Given the description of an element on the screen output the (x, y) to click on. 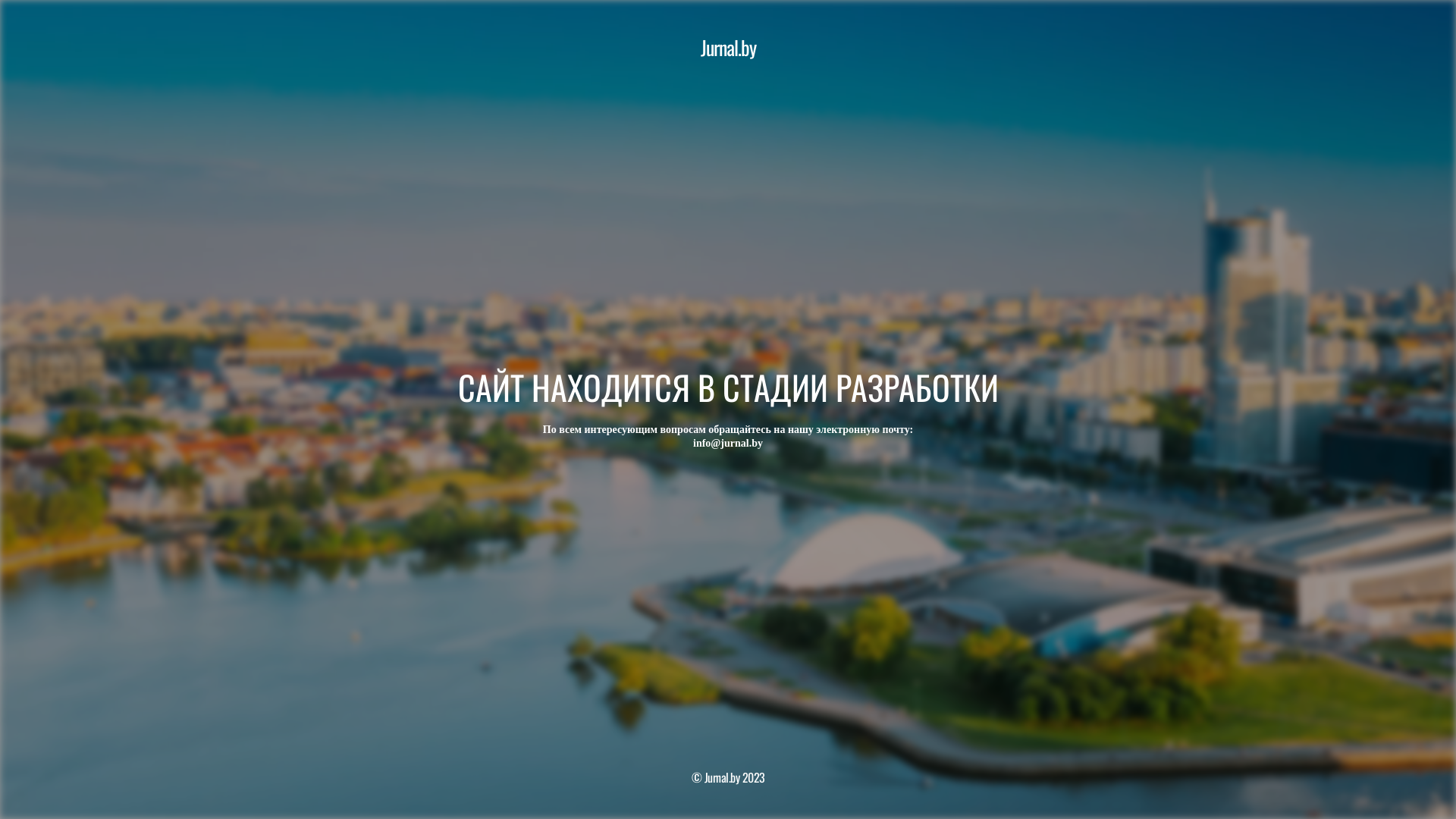
info@jurnal.by Element type: text (727, 442)
